Given the description of an element on the screen output the (x, y) to click on. 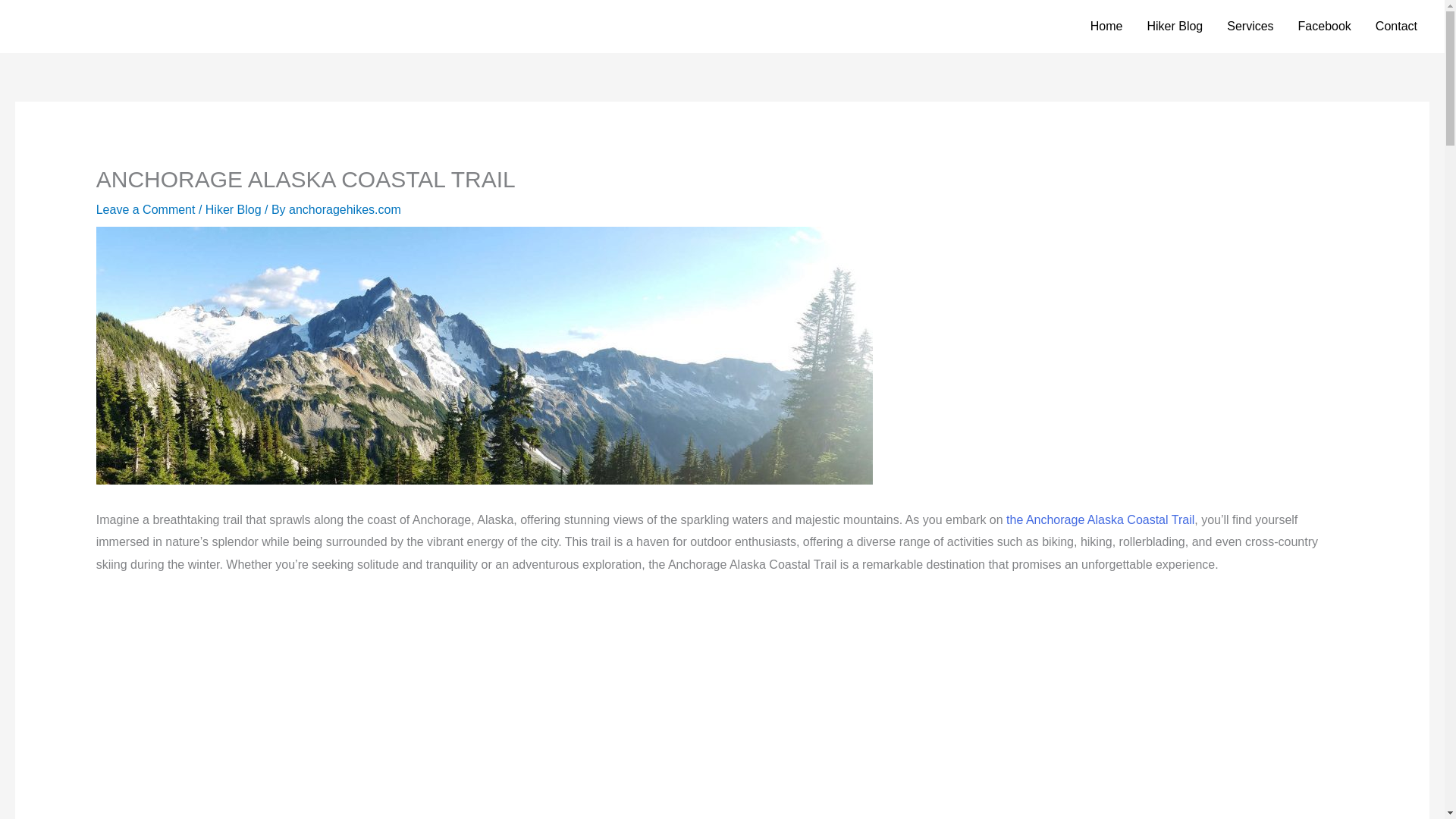
Leave a Comment (145, 209)
Home (1106, 26)
Hiker Blog (1174, 26)
Contact (1395, 26)
View all posts by anchoragehikes.com (344, 209)
the Anchorage Alaska Coastal Trail (1099, 519)
anchoragehikes.com (344, 209)
Services (1249, 26)
Hiker Blog (233, 209)
Facebook (1323, 26)
